Given the description of an element on the screen output the (x, y) to click on. 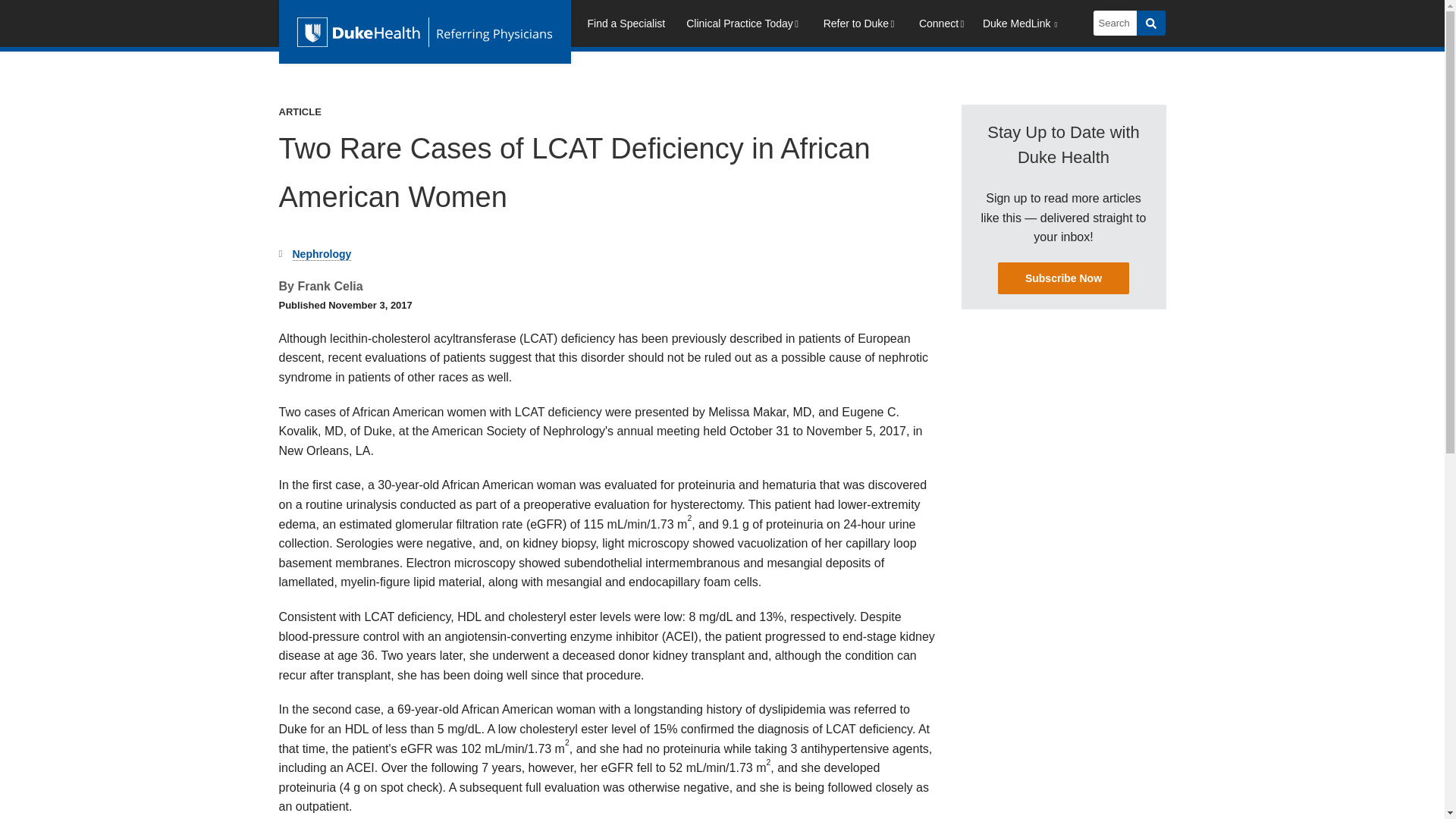
Find a Specialist (625, 25)
Clinical Practice Today (743, 25)
Duke Health Referring Physicians Home (424, 31)
Duke Health Referring Physicians (424, 31)
Connect (943, 25)
Refer to Duke (860, 25)
